Given the description of an element on the screen output the (x, y) to click on. 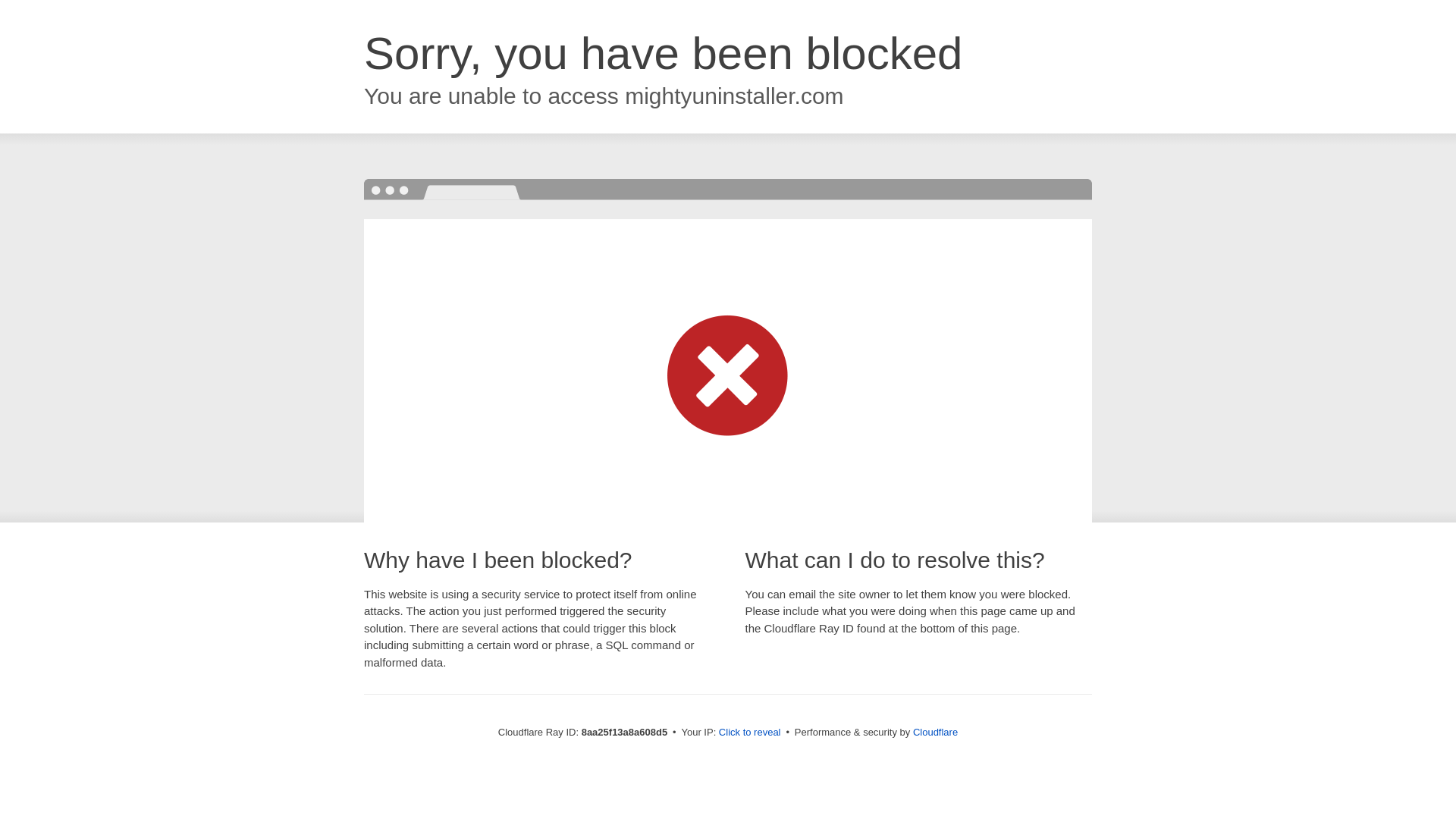
Cloudflare (935, 731)
Click to reveal (749, 732)
